Given the description of an element on the screen output the (x, y) to click on. 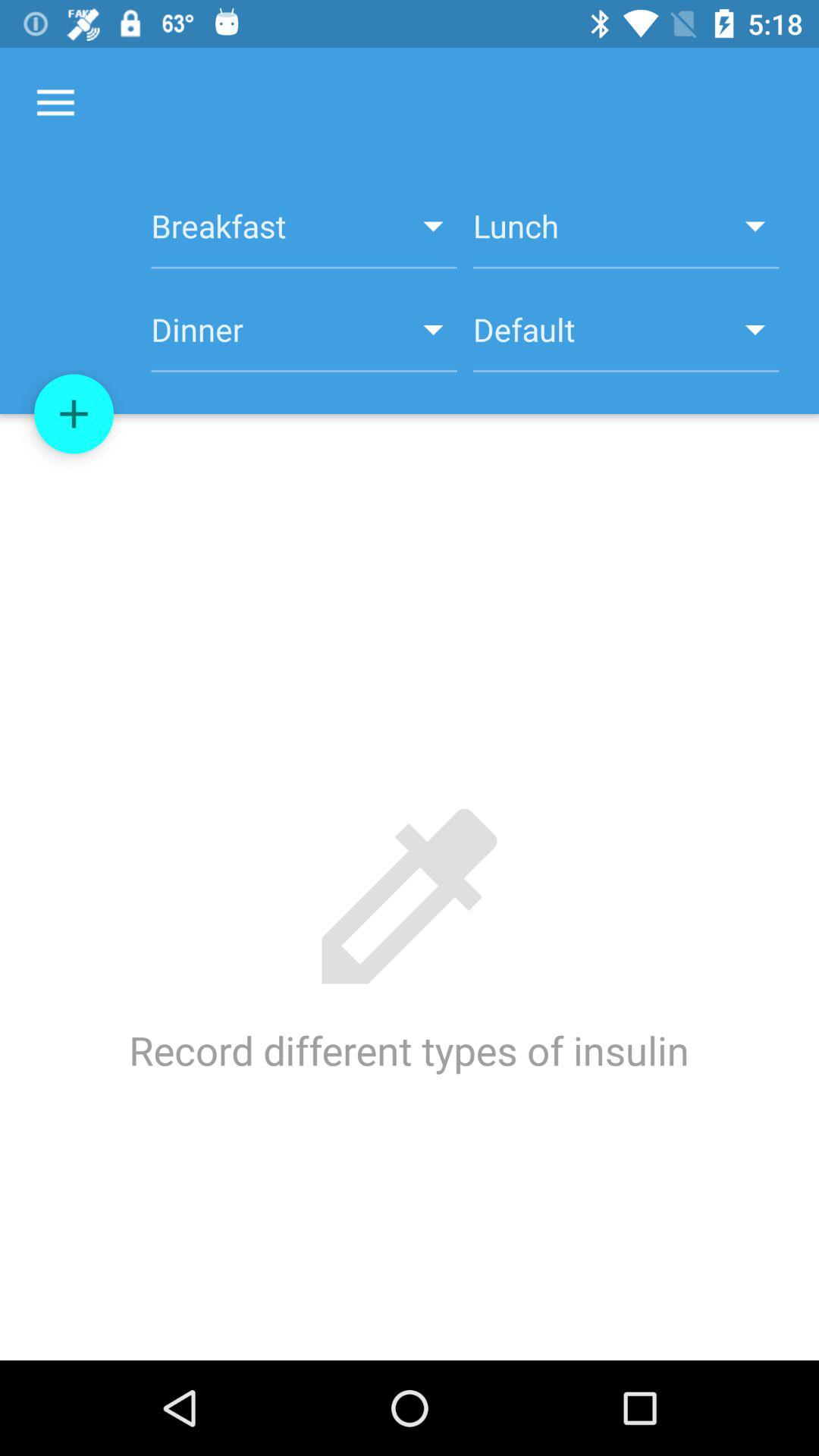
add a meal (73, 413)
